Given the description of an element on the screen output the (x, y) to click on. 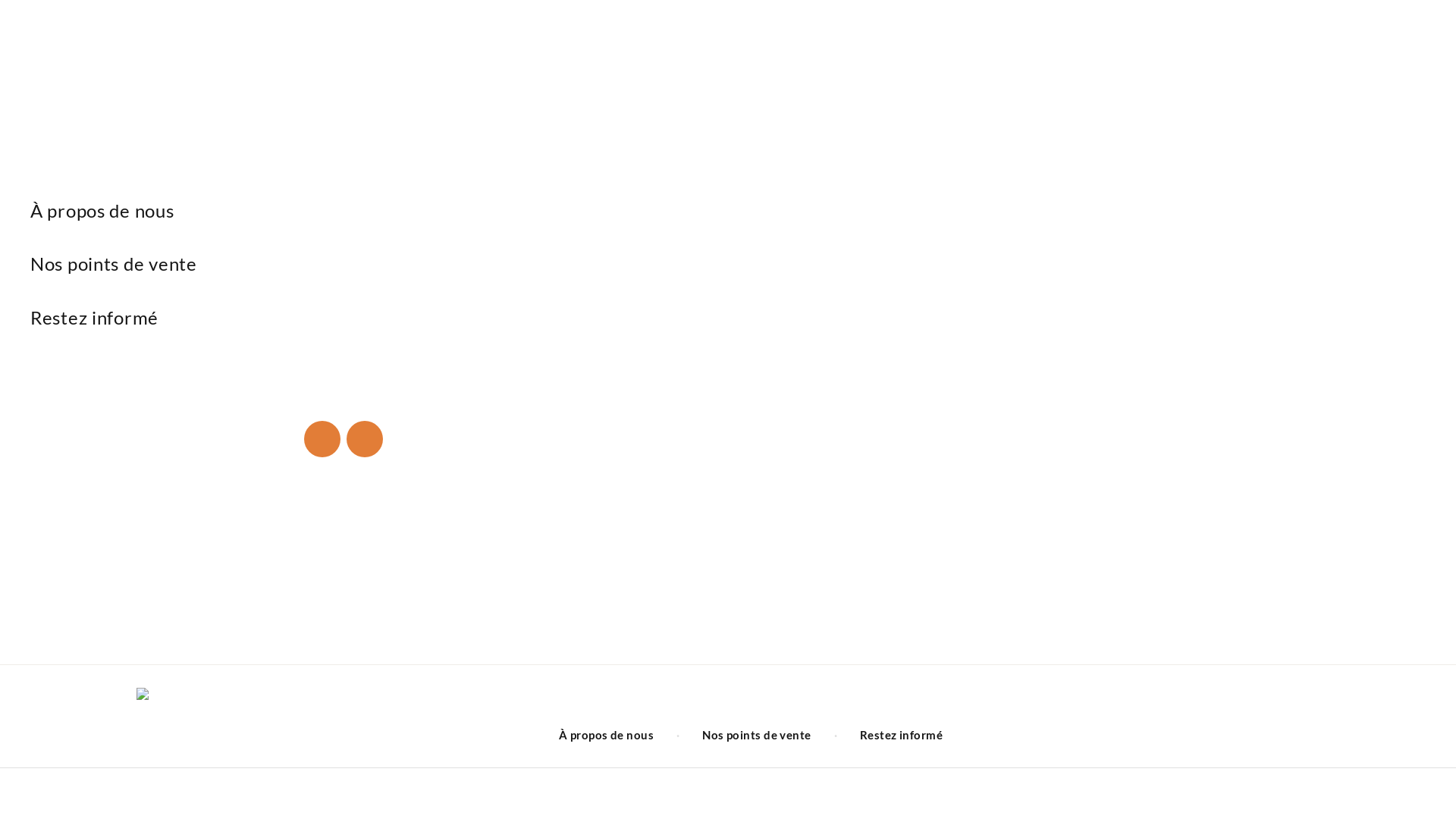
Nos points de vente Element type: text (756, 734)
Nos points de vente Element type: text (386, 264)
